Given the description of an element on the screen output the (x, y) to click on. 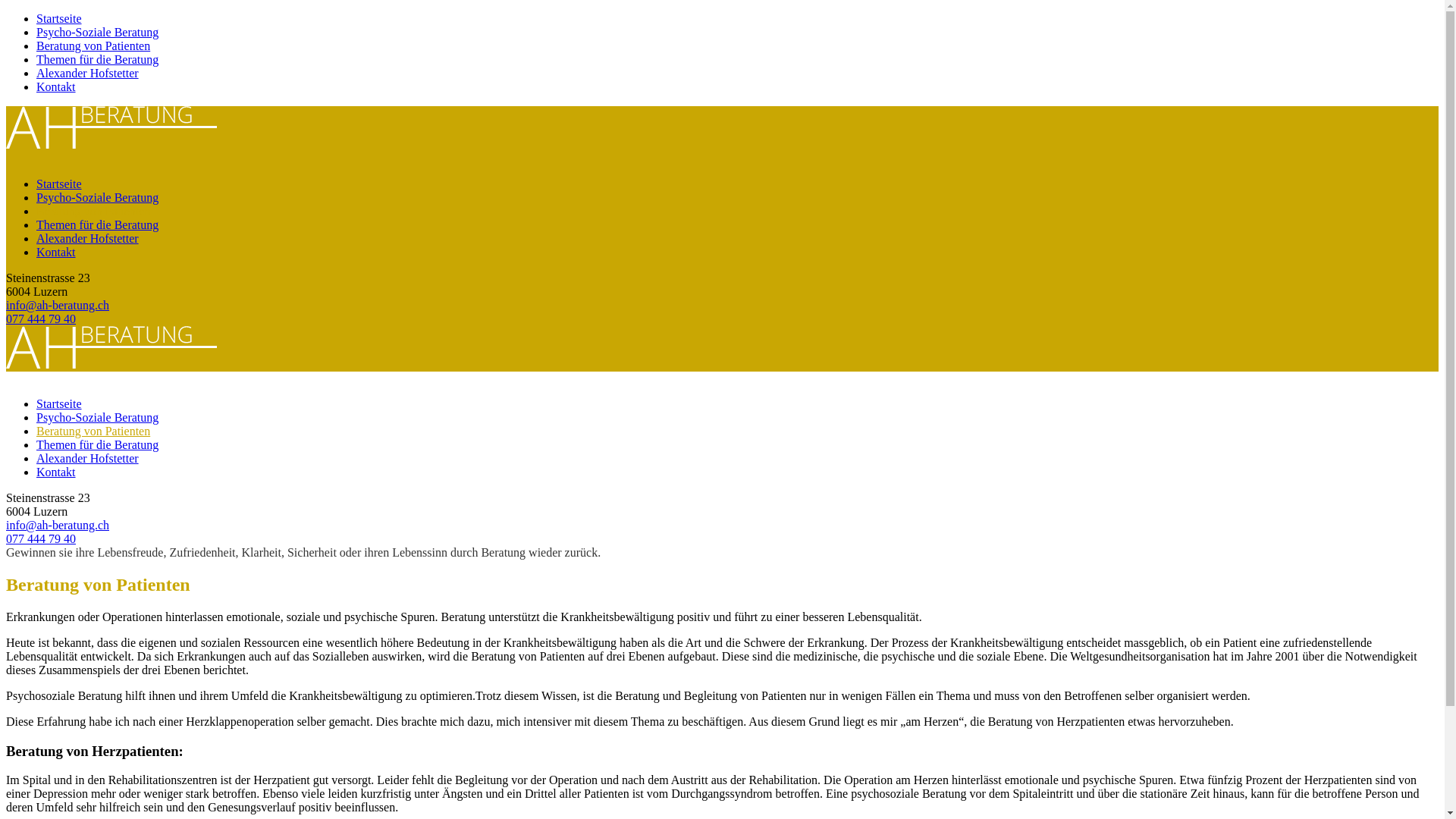
Beratung von Patienten Element type: text (93, 430)
Kontakt Element type: text (55, 251)
Psycho-Soziale Beratung Element type: text (97, 417)
077 444 79 40 Element type: text (40, 318)
Beratung von Patienten Element type: text (93, 45)
Startseite Element type: text (58, 18)
Startseite Element type: text (58, 183)
Alexander Hofstetter Element type: text (87, 457)
Psycho-Soziale Beratung Element type: text (97, 197)
Kontakt Element type: text (55, 86)
Startseite Element type: text (58, 403)
077 444 79 40 Element type: text (40, 538)
Beratung von Patienten Element type: text (93, 210)
info@ah-beratung.ch Element type: text (57, 524)
Alexander Hofstetter Element type: text (87, 72)
Alexander Hofstetter Element type: text (87, 238)
Psycho-Soziale Beratung Element type: text (97, 31)
info@ah-beratung.ch Element type: text (57, 304)
Kontakt Element type: text (55, 471)
